Given the description of an element on the screen output the (x, y) to click on. 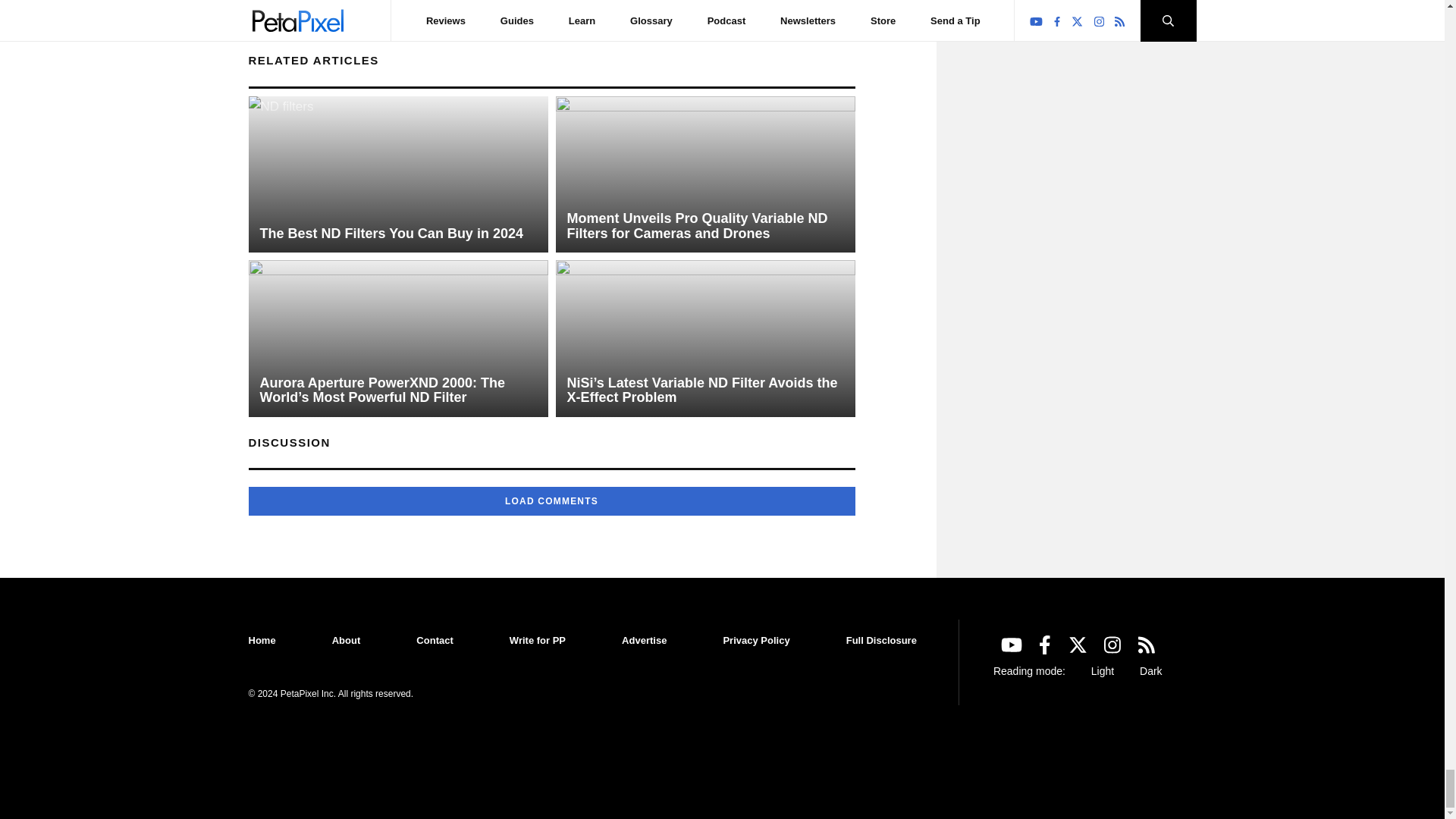
Share on facebook (258, 7)
Share on X (283, 7)
Email this article (333, 7)
Share on Flipboard (309, 7)
